Given the description of an element on the screen output the (x, y) to click on. 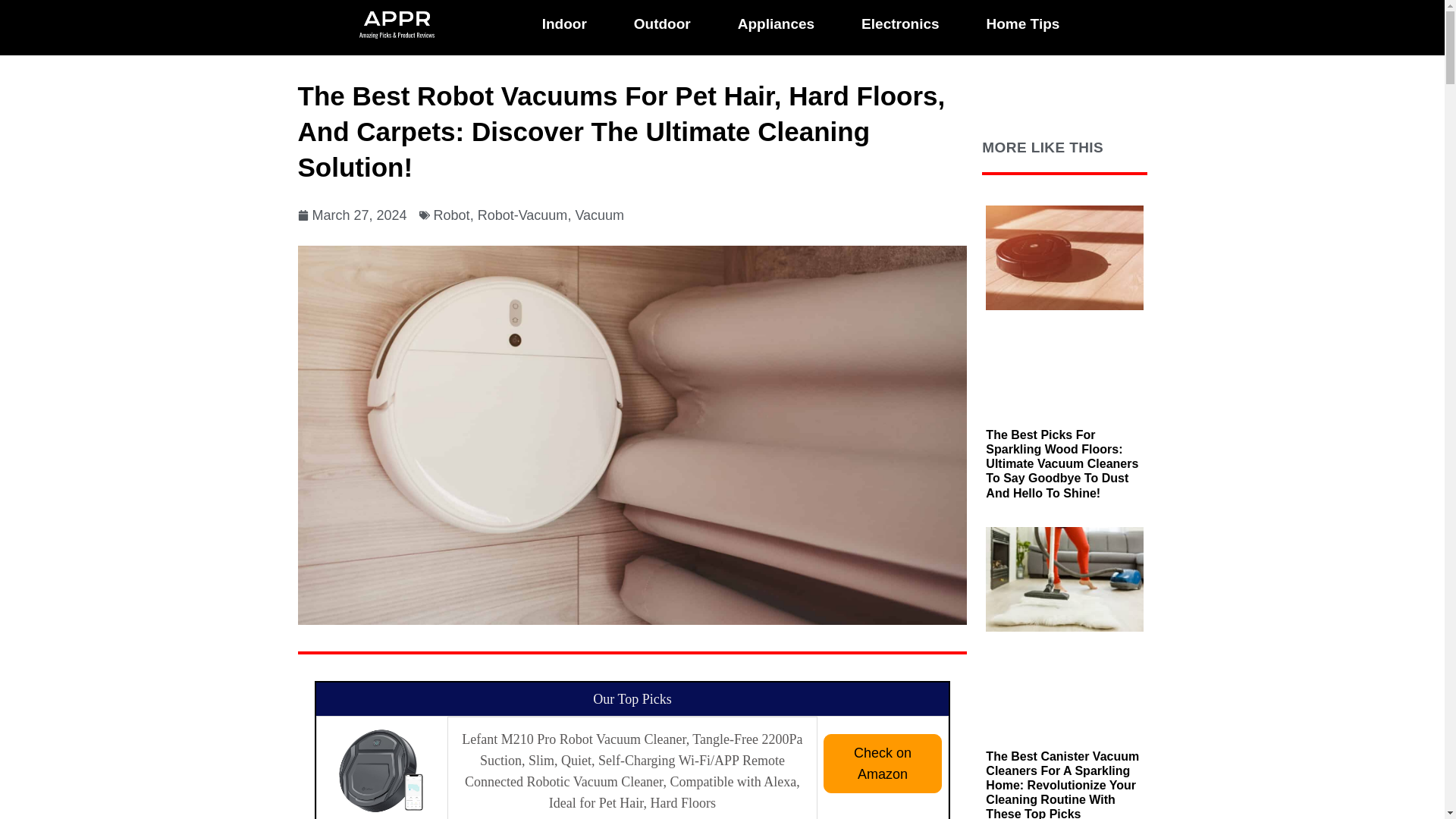
Appliances (775, 23)
Indoor (564, 23)
Outdoor (662, 23)
Electronics (899, 23)
